Given the description of an element on the screen output the (x, y) to click on. 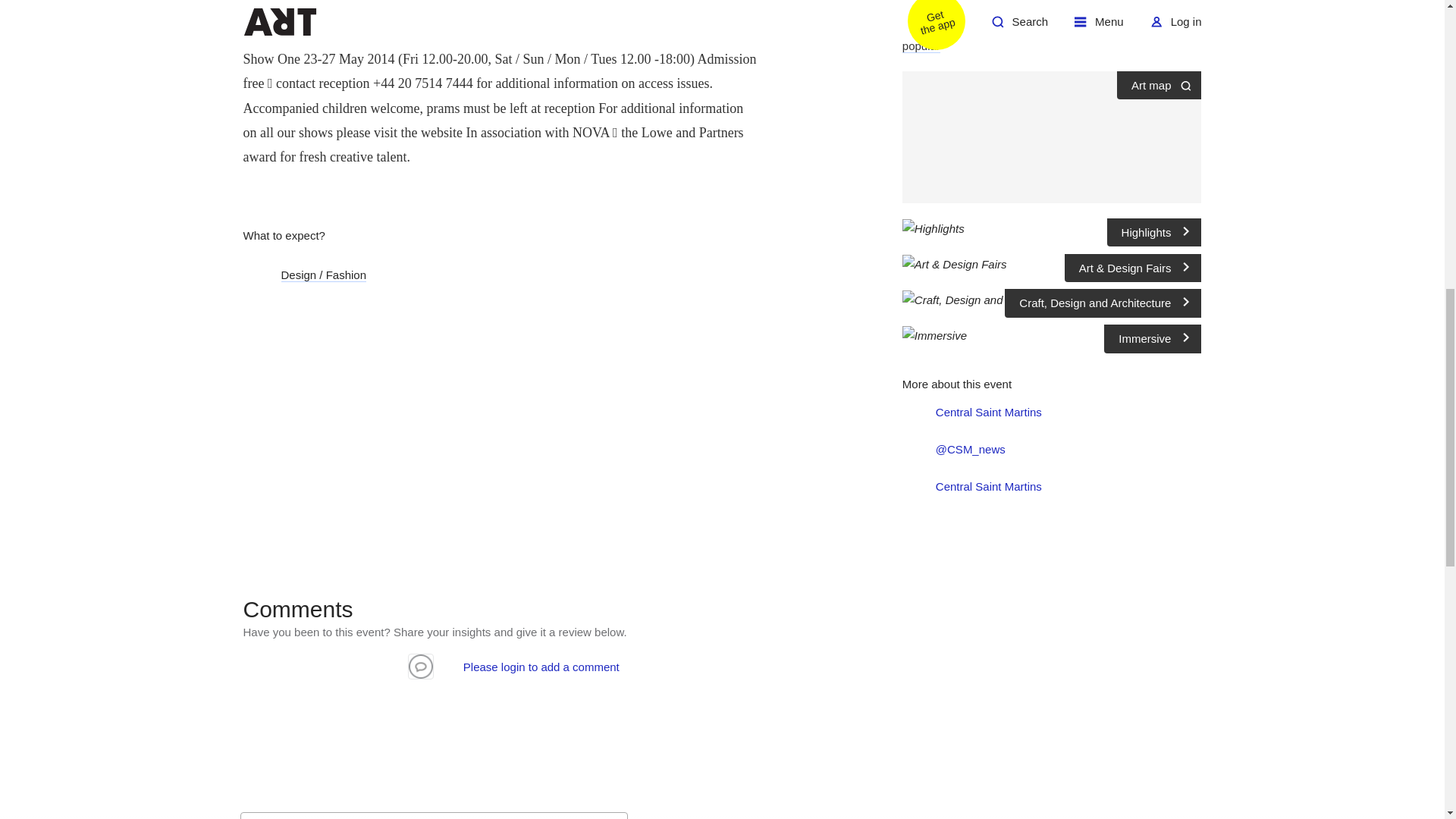
opening soon (1105, 27)
previewing today, (1024, 27)
239 current events (1001, 7)
